Given the description of an element on the screen output the (x, y) to click on. 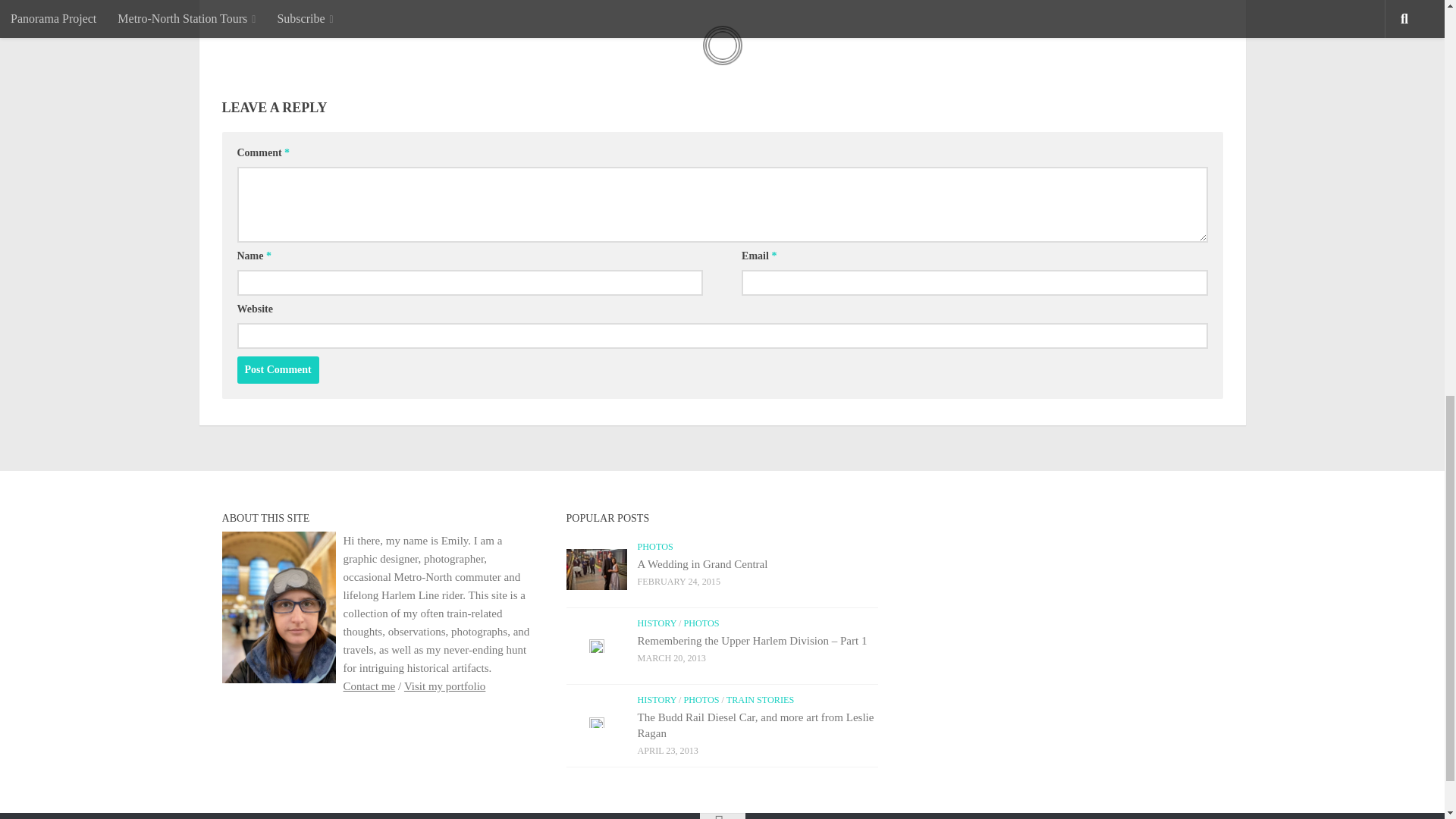
Post Comment (276, 370)
